Given the description of an element on the screen output the (x, y) to click on. 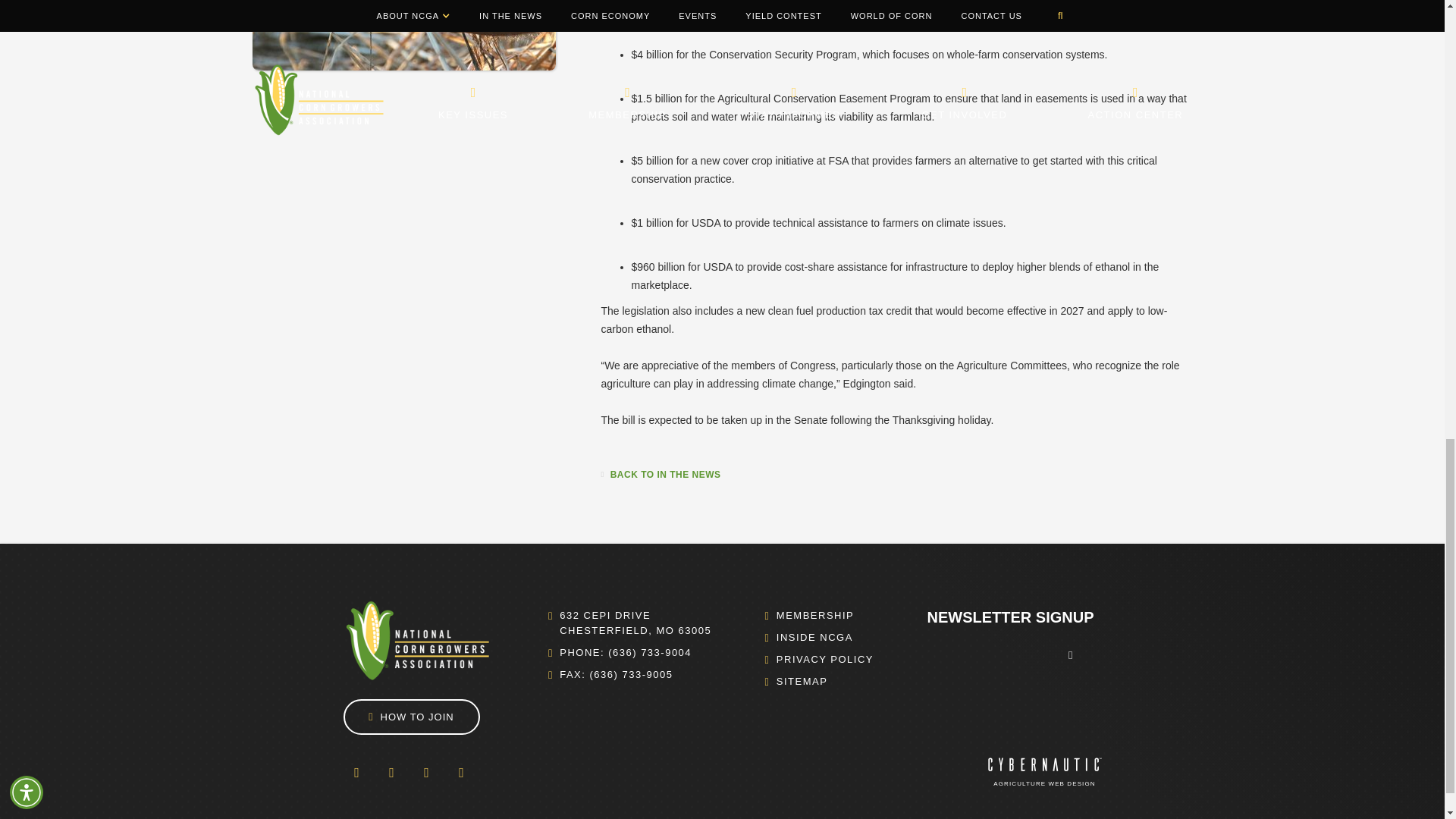
Facebook (355, 772)
Twitter (390, 772)
Soundcloud (460, 772)
Flickr (425, 772)
